Given the description of an element on the screen output the (x, y) to click on. 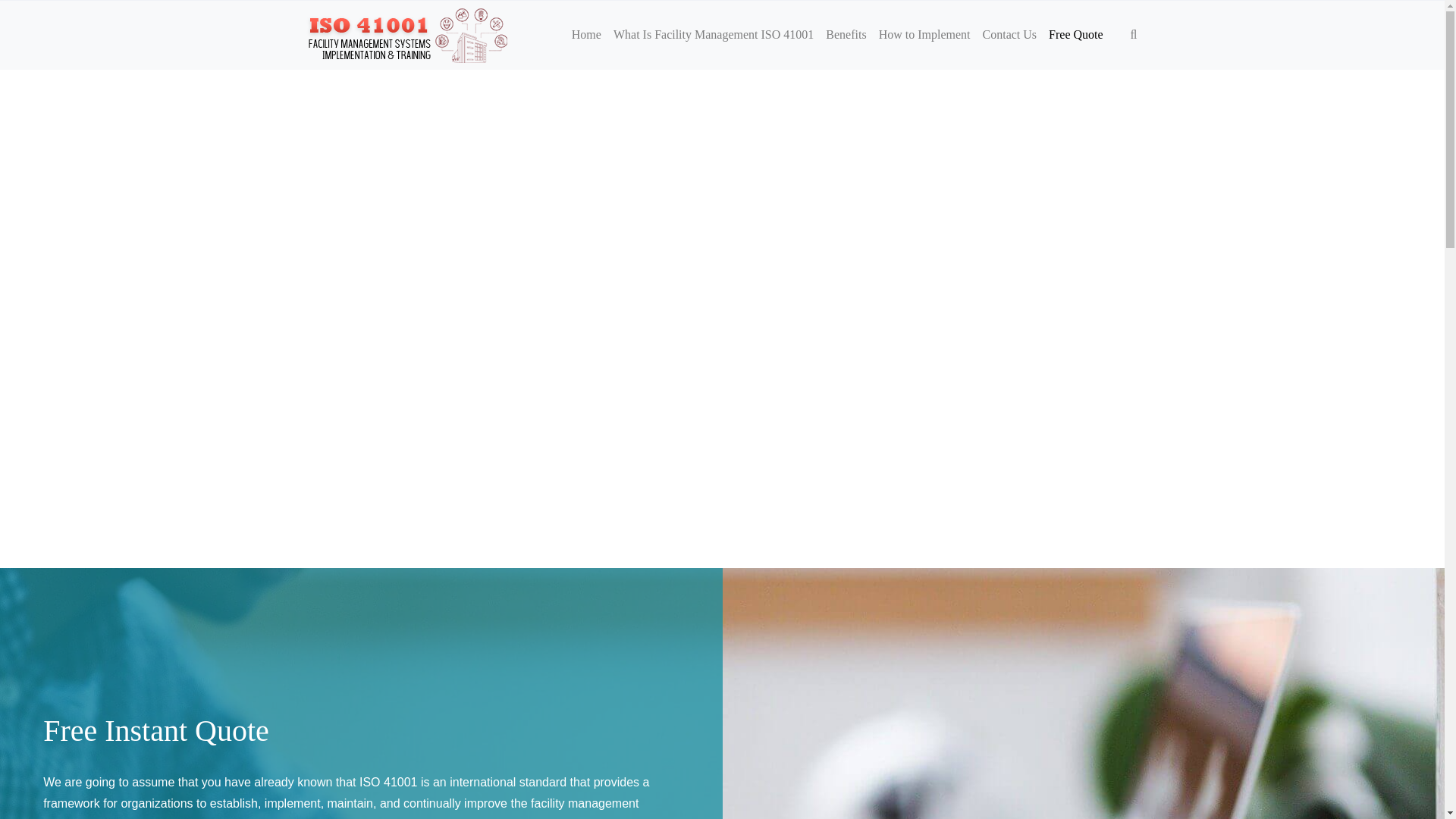
Free Quote (1075, 34)
Contact Us (1009, 34)
What Is Facility Management ISO 41001 (713, 34)
How to Implement (924, 34)
What Is Facility Management ISO 41001 (713, 34)
How to Implement (924, 34)
Free Quote (1075, 34)
Contact Us (1009, 34)
